Given the description of an element on the screen output the (x, y) to click on. 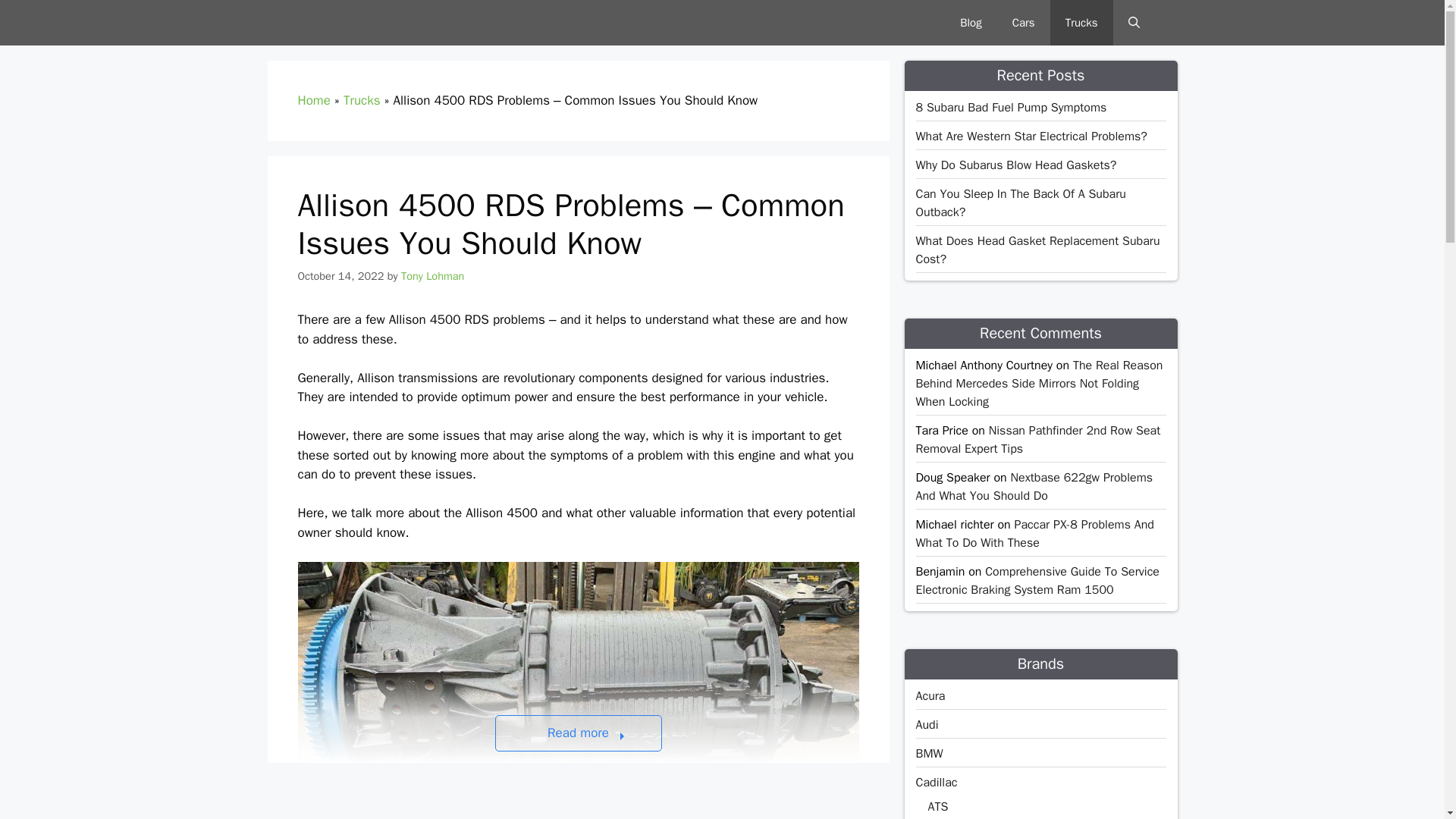
Why Do Subarus Blow Head Gaskets? (1015, 165)
Acura (929, 695)
8 Subaru Bad Fuel Pump Symptoms (1010, 107)
Nextbase 622gw Problems And What You Should Do  (1034, 486)
What Does Head Gasket Replacement Subaru Cost? (1037, 249)
Paccar PX-8 Problems And What To Do With These (1034, 533)
Tony Lohman (432, 274)
Cars (1023, 22)
BMW (929, 753)
Cadillac (936, 782)
Nissan Pathfinder 2nd Row Seat Removal Expert Tips (1037, 439)
View all posts by Tony Lohman (432, 274)
What Are Western Star Electrical Problems? (1031, 136)
Can You Sleep In The Back Of A Subaru Outback? (1020, 203)
Read more (578, 732)
